Given the description of an element on the screen output the (x, y) to click on. 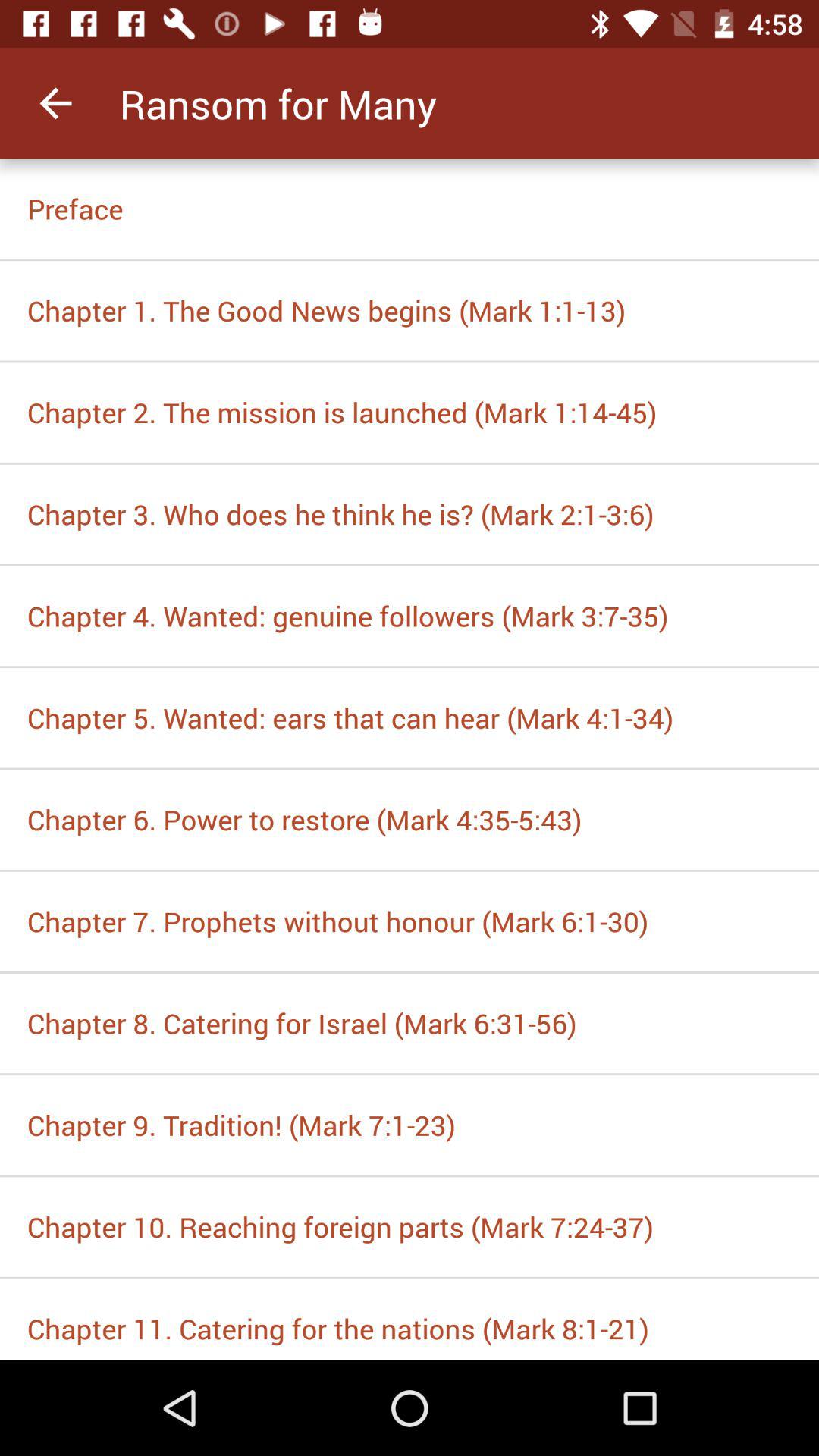
open the app next to the ransom for many item (55, 103)
